Given the description of an element on the screen output the (x, y) to click on. 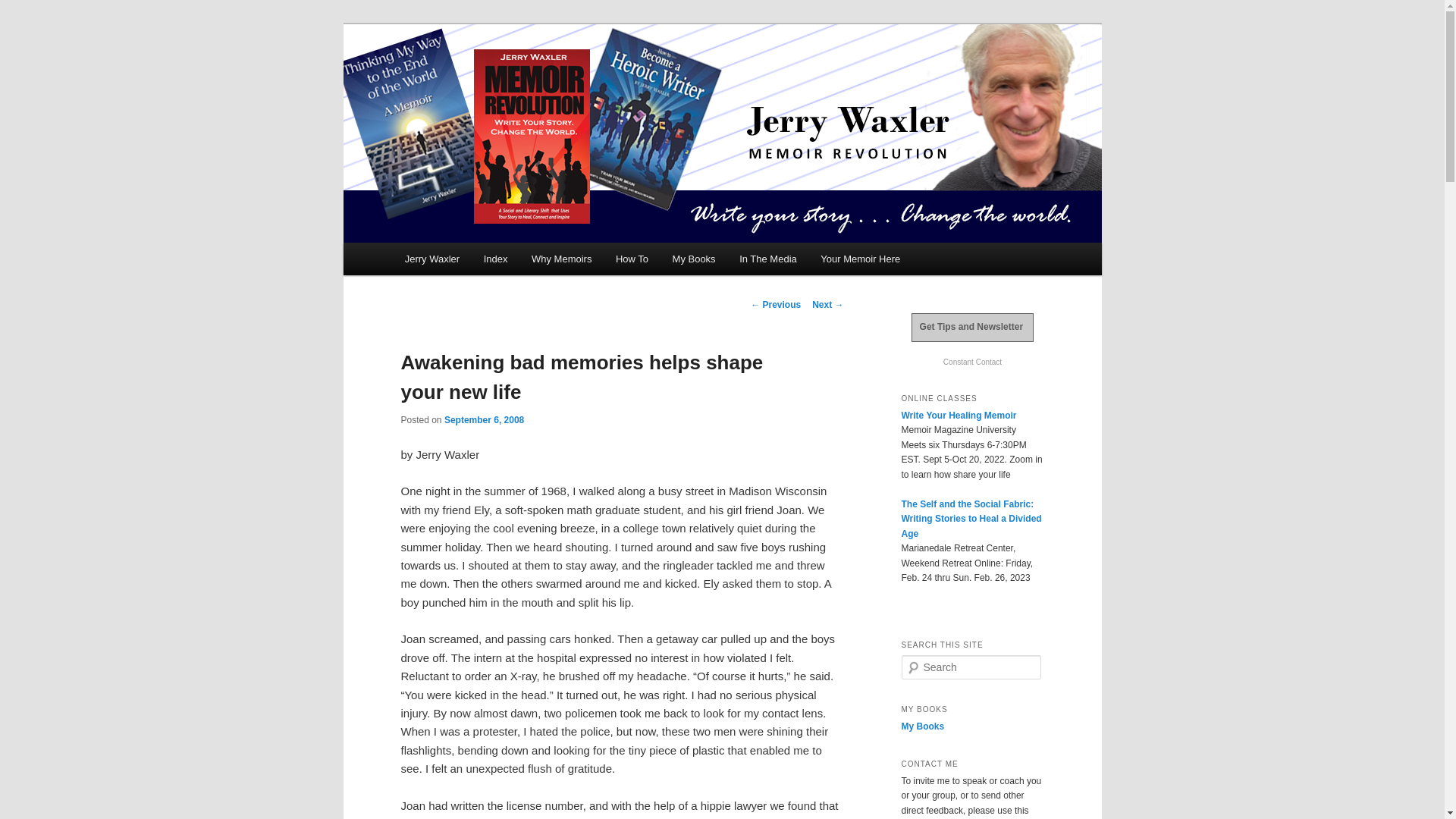
How To (632, 258)
My Books (694, 258)
Jerry Waxler (432, 258)
Your Memoir Here (860, 258)
Why Memoirs (561, 258)
In The Media (767, 258)
7:00 am (484, 419)
Index (495, 258)
September 6, 2008 (484, 419)
